Given the description of an element on the screen output the (x, y) to click on. 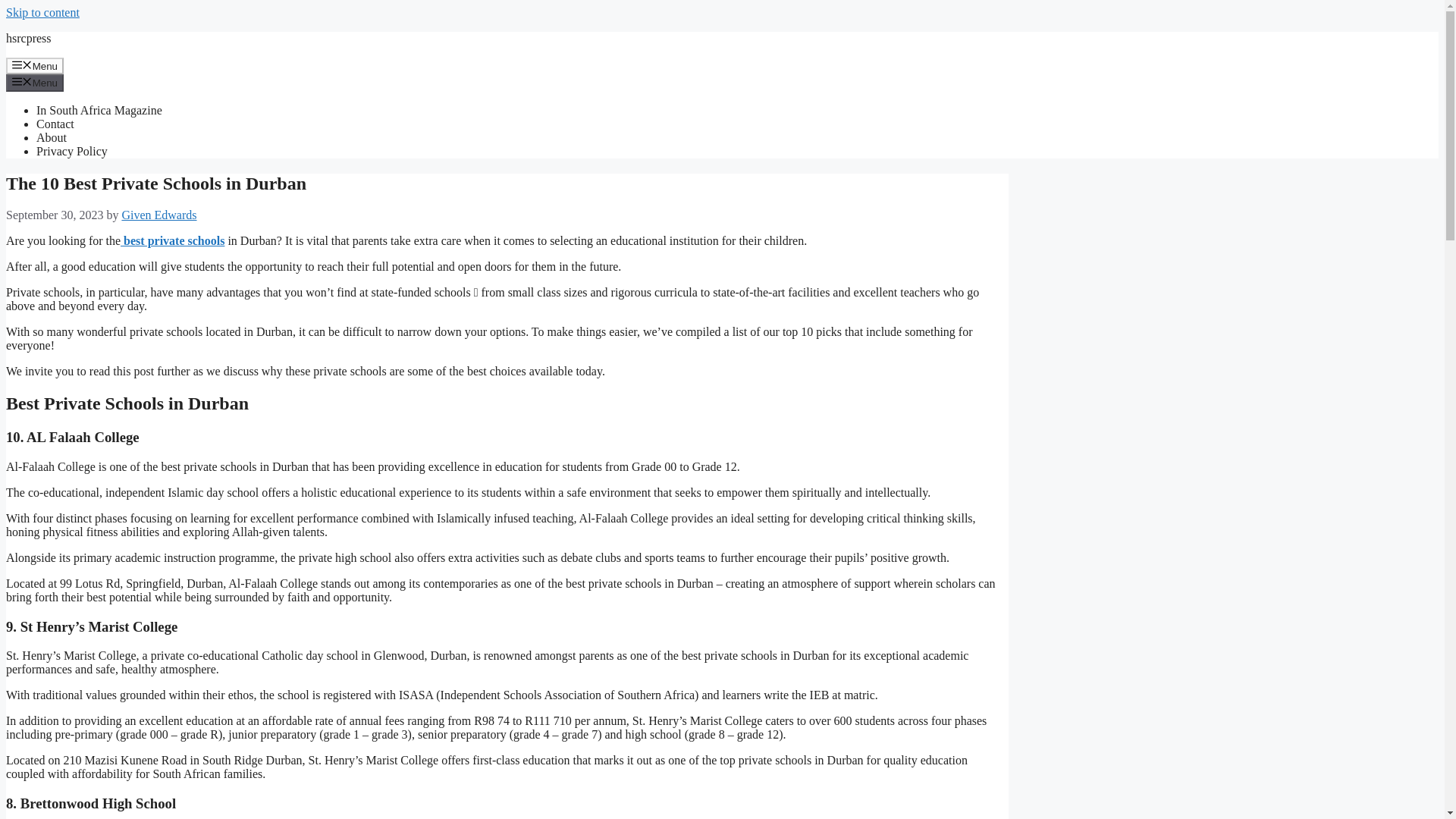
Privacy Policy (71, 151)
Given Edwards (158, 214)
Menu (34, 82)
hsrcpress (27, 38)
About (51, 137)
Skip to content (42, 11)
best private schools (172, 240)
View all posts by Given Edwards (158, 214)
Skip to content (42, 11)
In South Africa Magazine (98, 110)
Contact (55, 123)
Menu (34, 65)
